Given the description of an element on the screen output the (x, y) to click on. 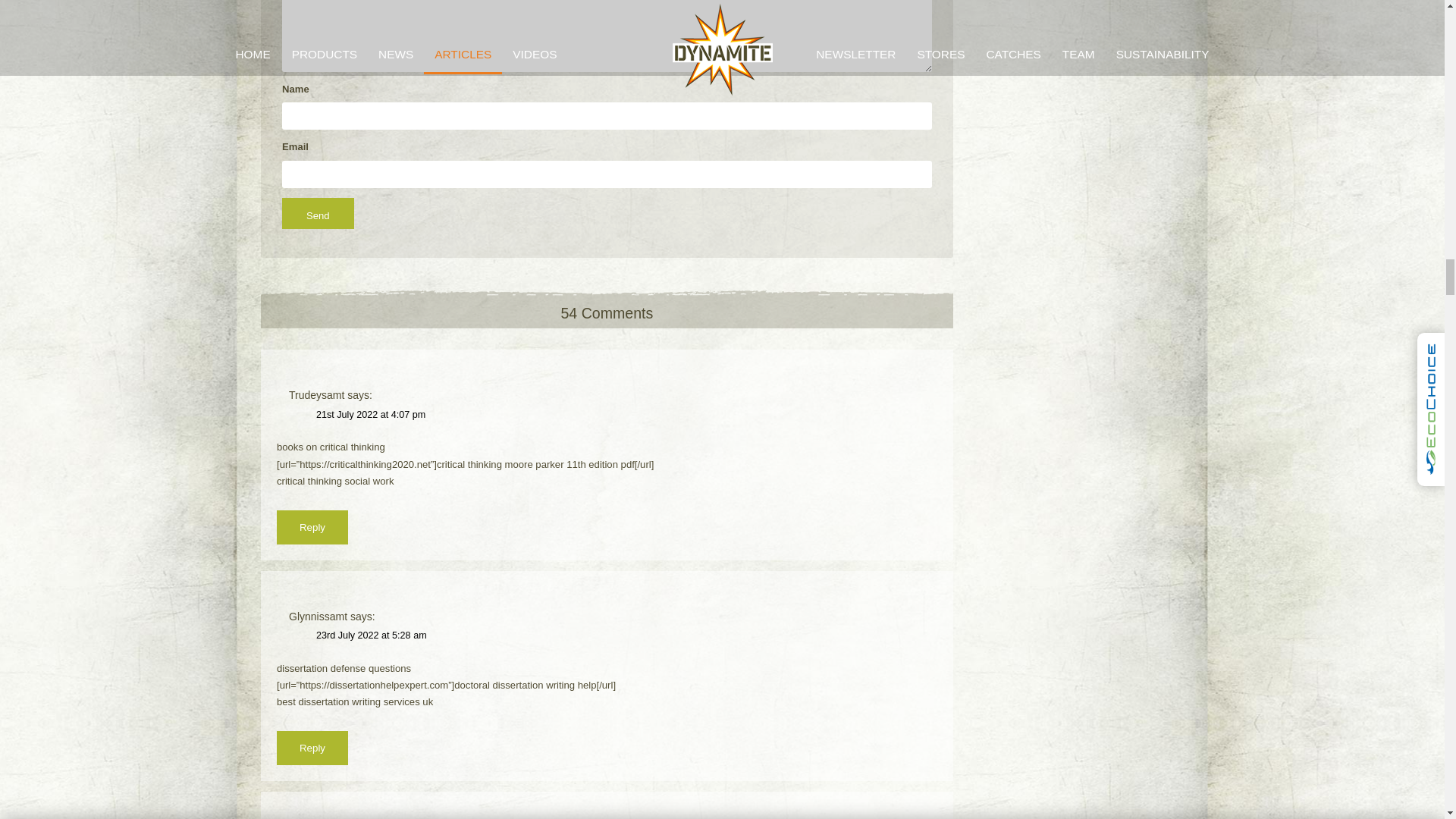
Send (317, 214)
Send (317, 214)
23rd July 2022 at 5:28 am (370, 634)
Reply (311, 527)
Reply (311, 747)
21st July 2022 at 4:07 pm (370, 414)
